Given the description of an element on the screen output the (x, y) to click on. 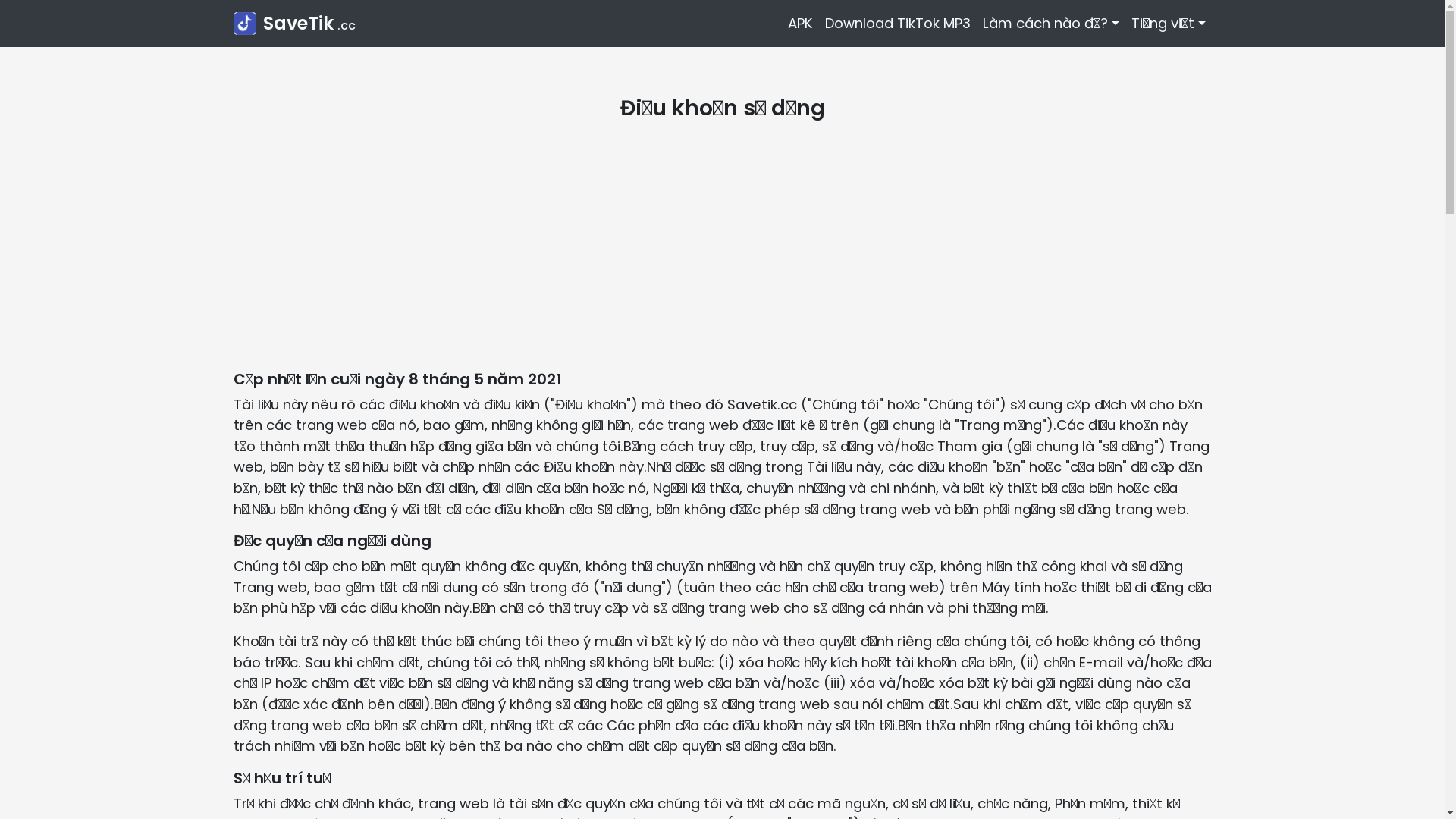
SaveTik .cc Element type: text (294, 23)
Download TikTok MP3 Element type: text (897, 23)
APK Element type: text (800, 23)
